Given the description of an element on the screen output the (x, y) to click on. 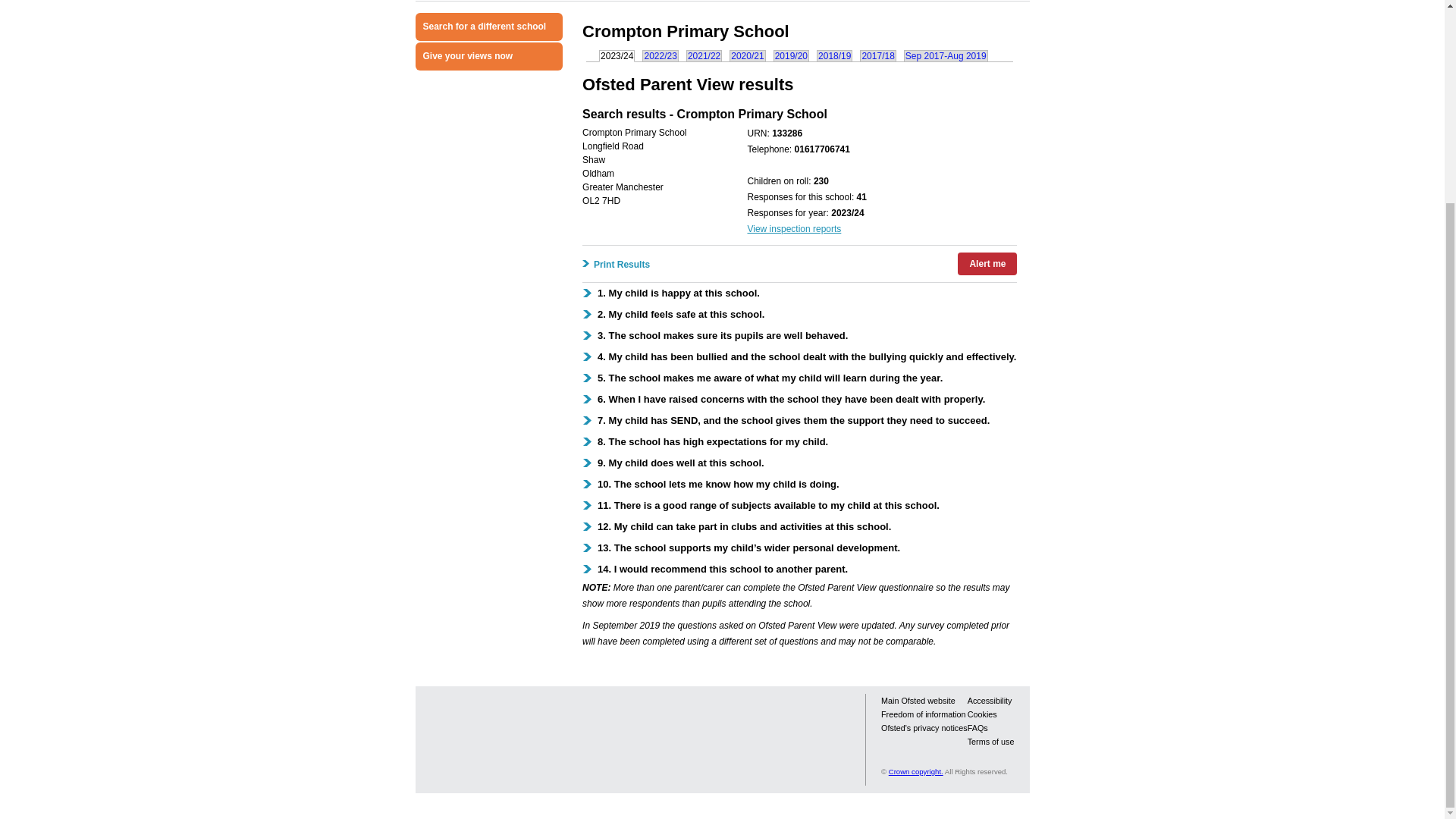
Give your views now (488, 56)
Sep 2017-Aug 2019 (946, 55)
Search for a different school (488, 26)
Main Ofsted website (917, 700)
Print Results (620, 264)
View inspection reports (793, 228)
